Given the description of an element on the screen output the (x, y) to click on. 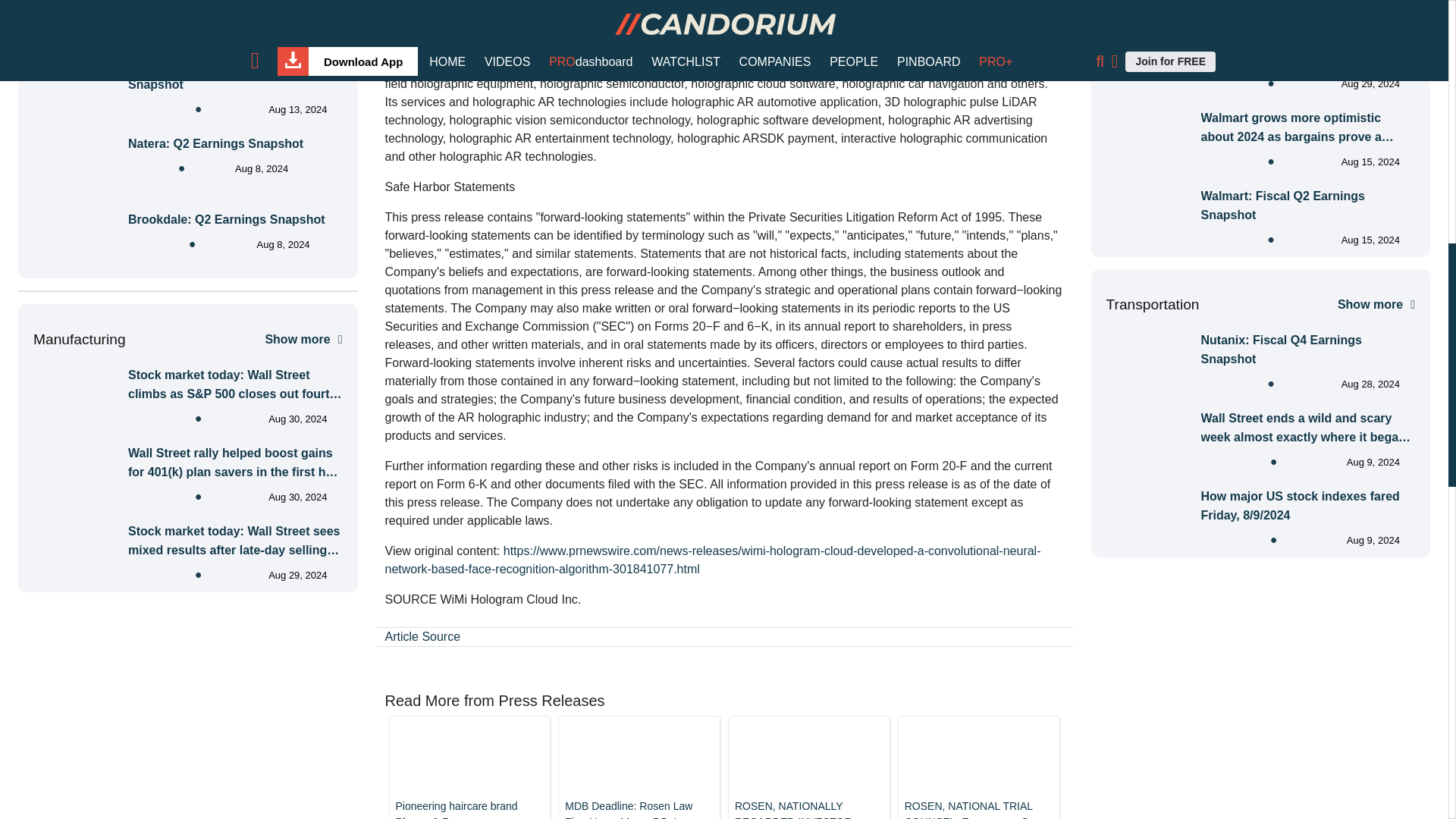
Show more (303, 29)
Psychemedics: Q2 Earnings Snapshot (235, 75)
Brookdale: Q2 Earnings Snapshot (226, 219)
Natera: Q2 Earnings Snapshot (215, 143)
Show more (303, 339)
NASDAQ: WIMI (581, 47)
Article Source (423, 635)
